Given the description of an element on the screen output the (x, y) to click on. 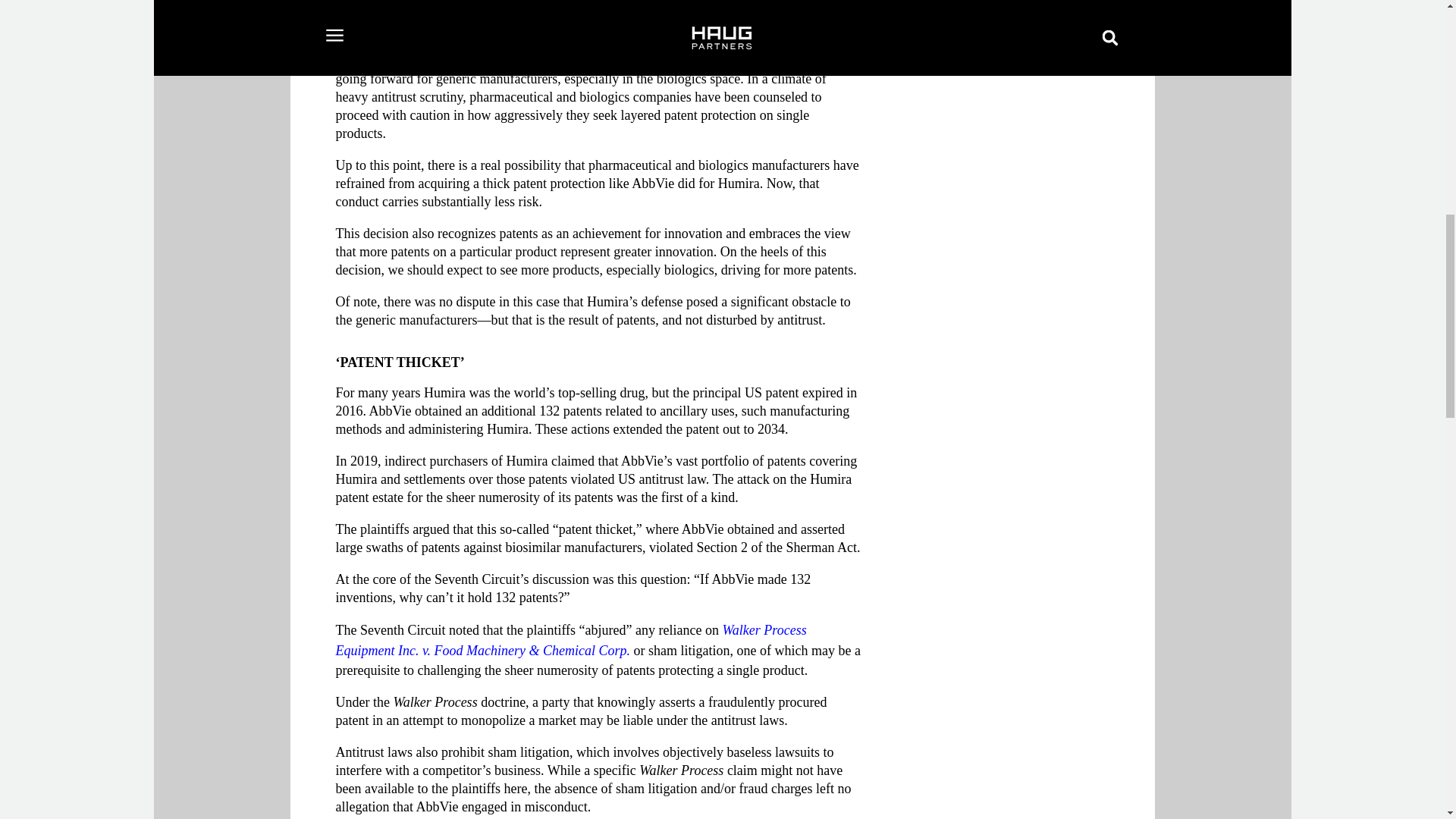
DAVID SHOTLANDER, (950, 7)
